Given the description of an element on the screen output the (x, y) to click on. 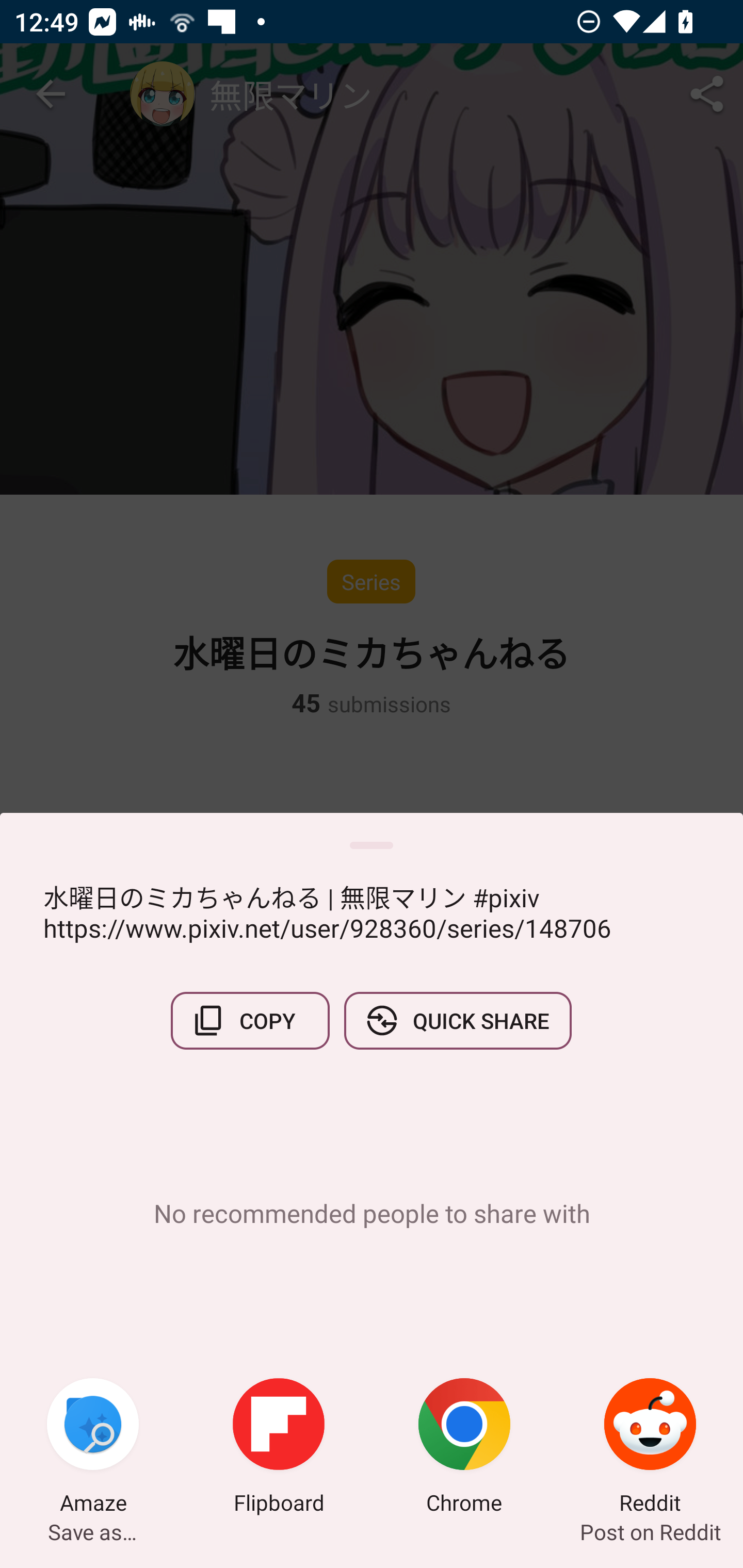
COPY (249, 1020)
QUICK SHARE (457, 1020)
Amaze Save as… (92, 1448)
Flipboard (278, 1448)
Chrome (464, 1448)
Reddit Post on Reddit (650, 1448)
